Given the description of an element on the screen output the (x, y) to click on. 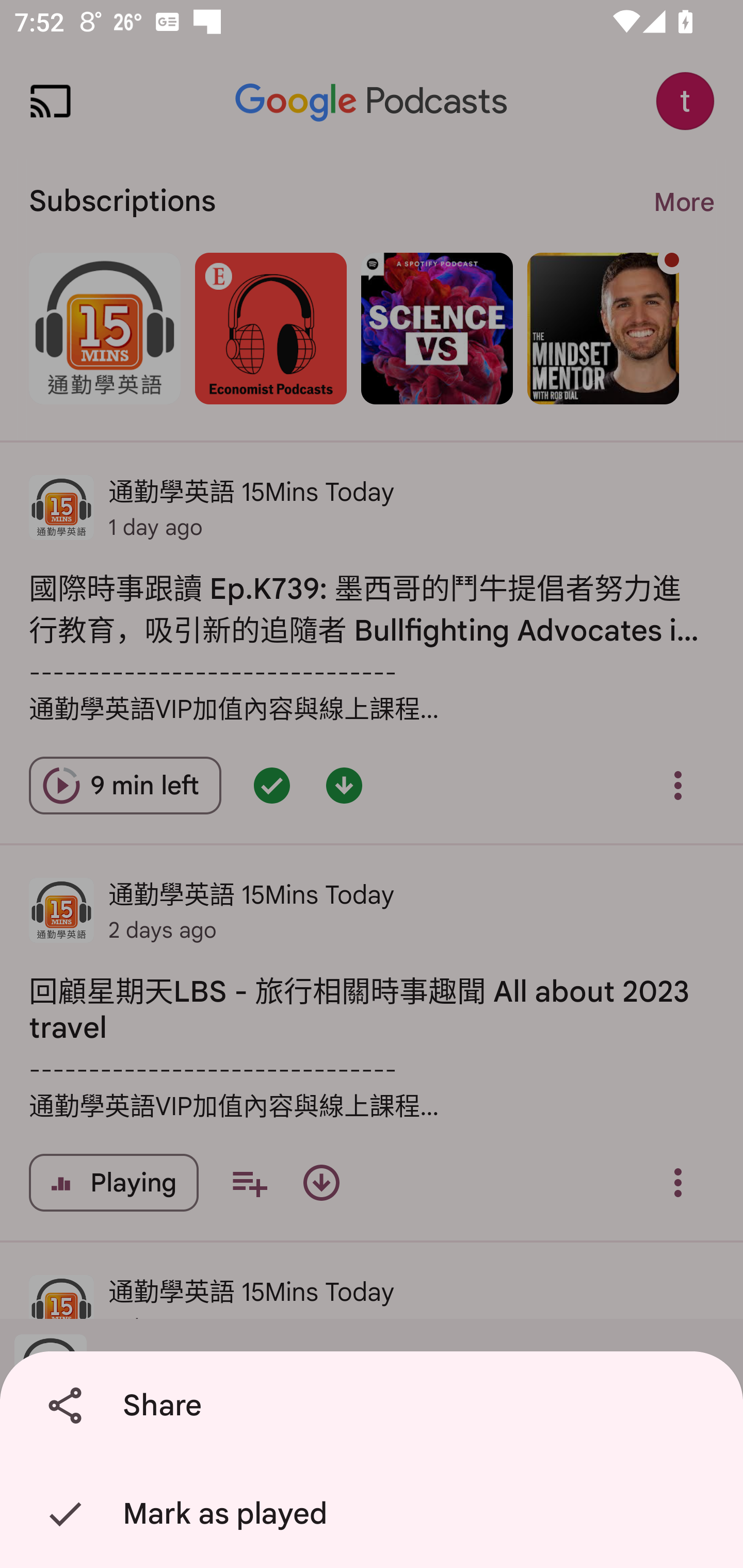
Share (375, 1405)
Mark as played (375, 1513)
